Given the description of an element on the screen output the (x, y) to click on. 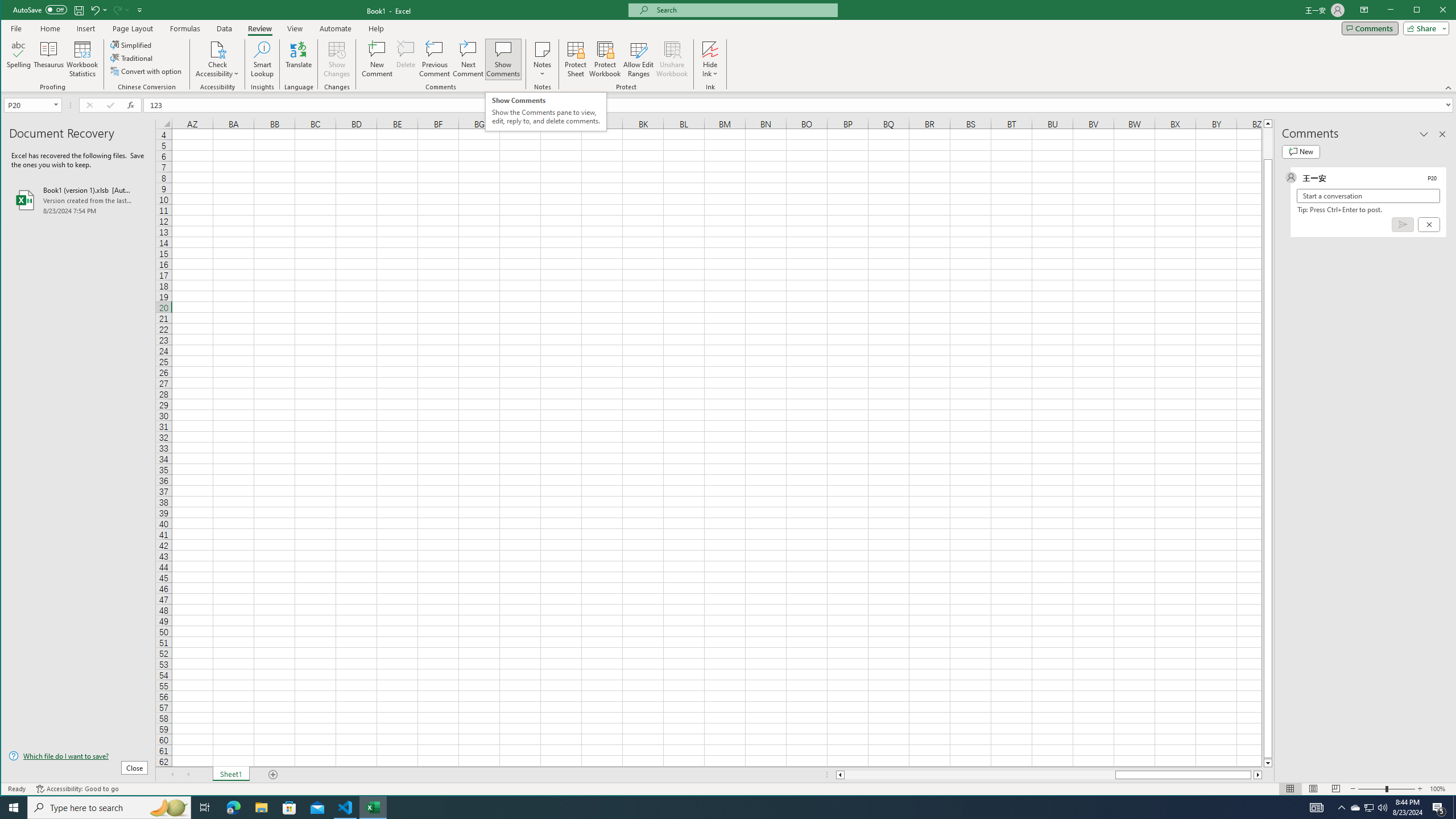
New Comment (377, 59)
Simplified (132, 44)
Show Changes (335, 59)
